Given the description of an element on the screen output the (x, y) to click on. 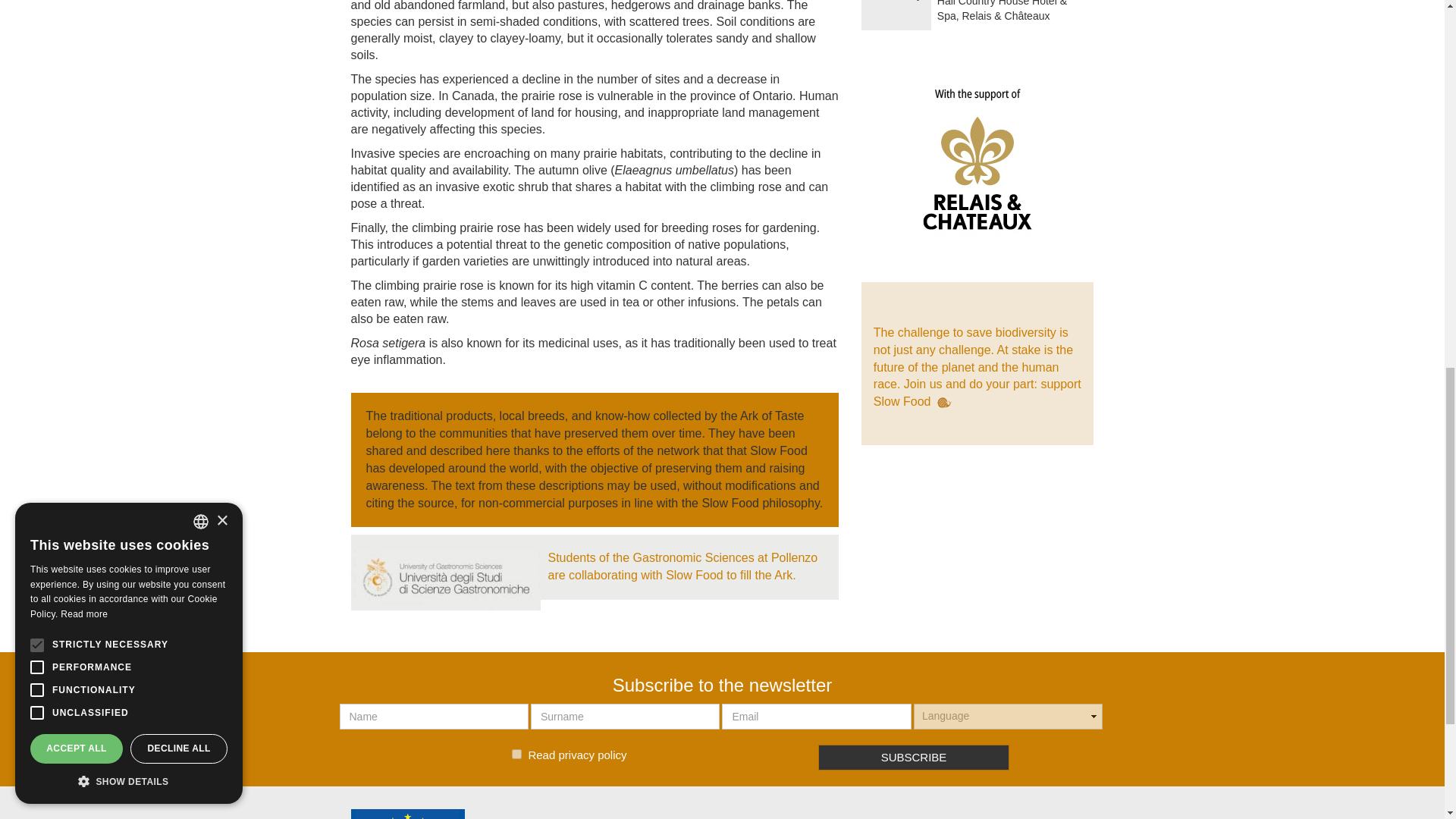
Subscribe (914, 757)
